Given the description of an element on the screen output the (x, y) to click on. 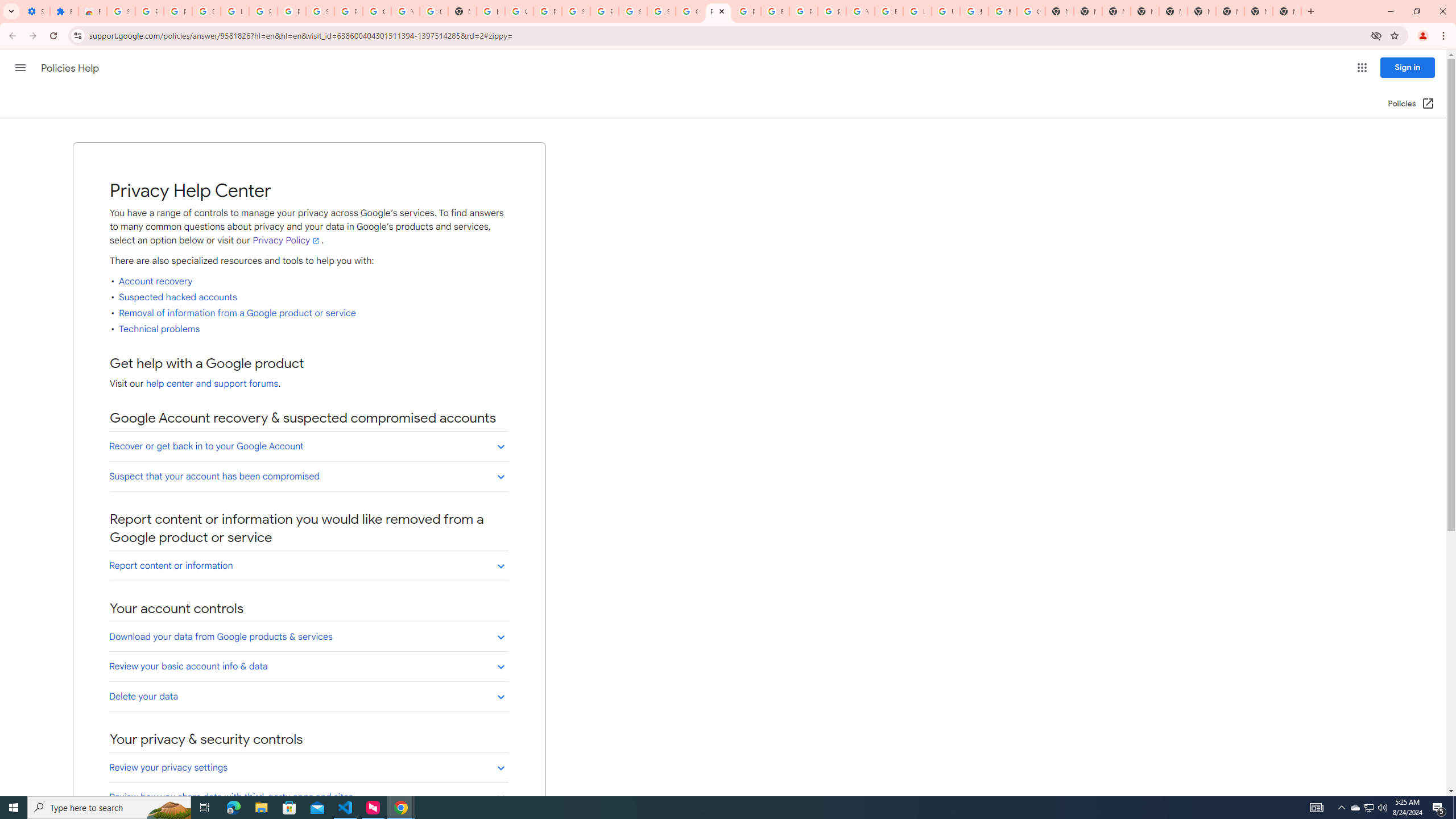
Delete photos & videos - Computer - Google Photos Help (206, 11)
Suspect that your account has been compromised (308, 476)
Policies (Open in a new window) (1411, 103)
New Tab (1287, 11)
Recover or get back in to your Google Account (308, 445)
